Given the description of an element on the screen output the (x, y) to click on. 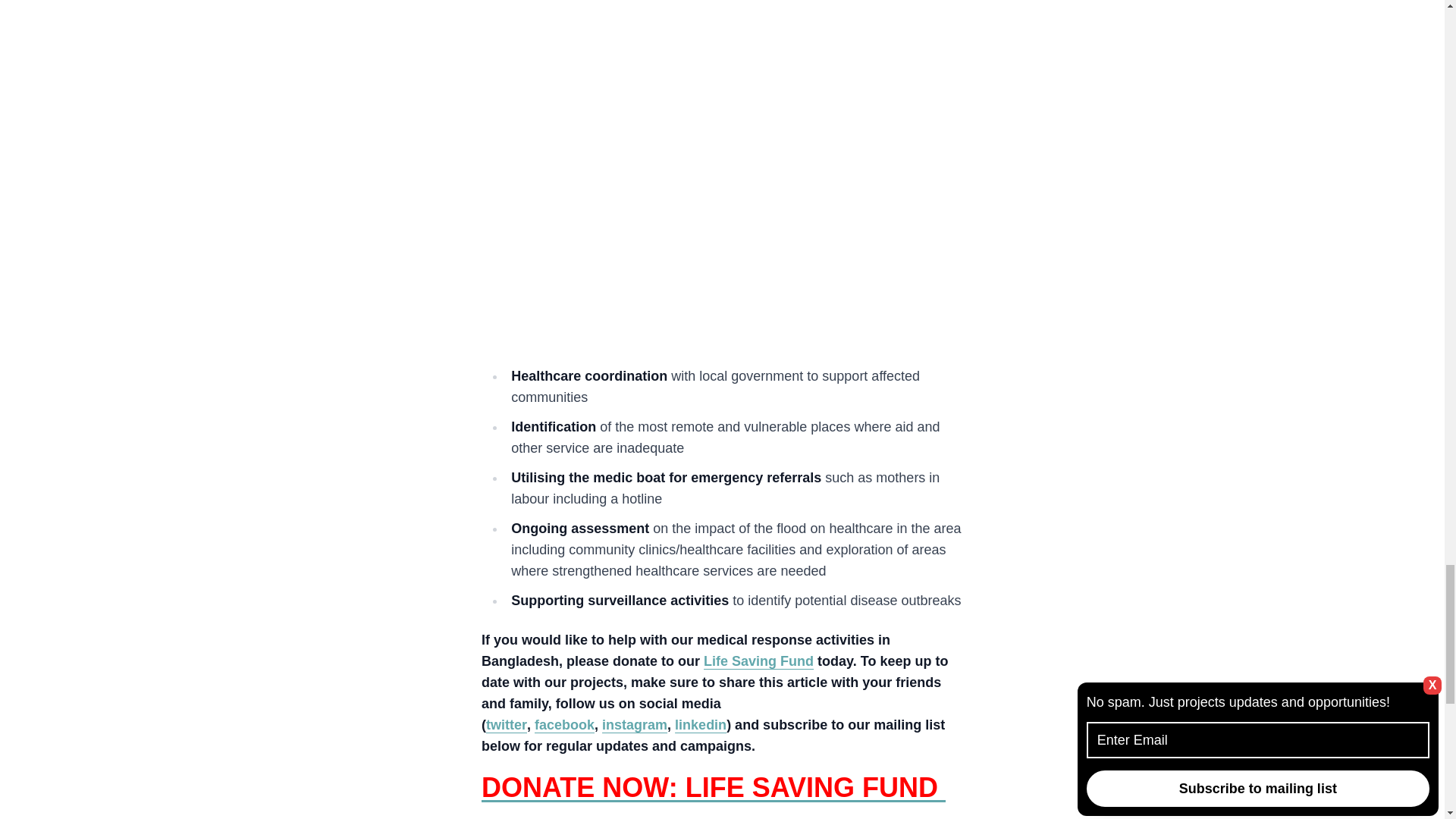
instagram (634, 724)
facebook (564, 724)
Life Saving Fund (758, 661)
linkedin (700, 724)
twitter (506, 724)
DONATE NOW: LIFE SAVING FUND  (712, 787)
